Given the description of an element on the screen output the (x, y) to click on. 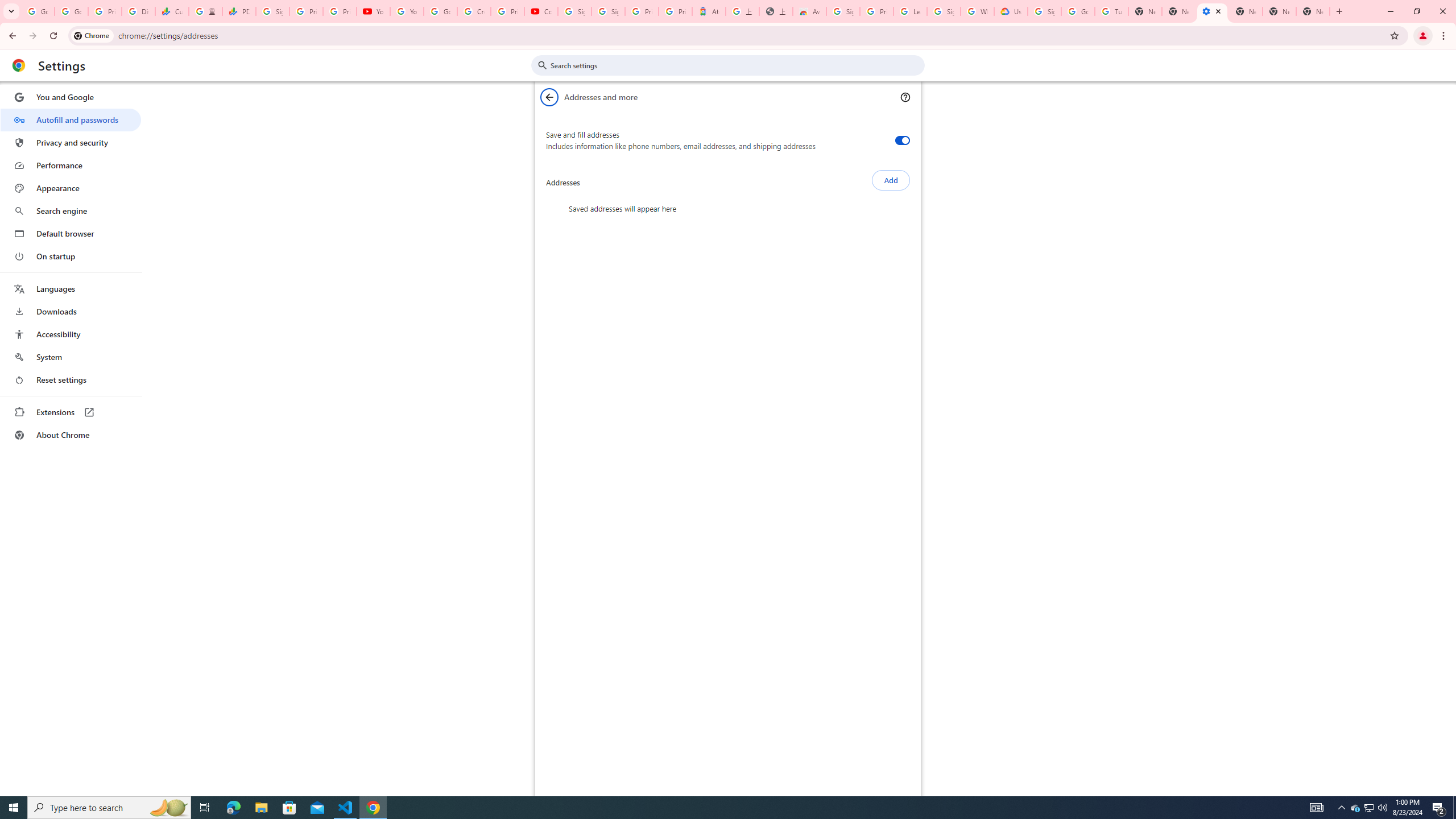
Currencies - Google Finance (171, 11)
Settings - Addresses and more (1212, 11)
You and Google (70, 96)
Sign in - Google Accounts (943, 11)
Google Account Help (1077, 11)
Search settings (735, 65)
Languages (70, 288)
Default browser (70, 233)
